Given the description of an element on the screen output the (x, y) to click on. 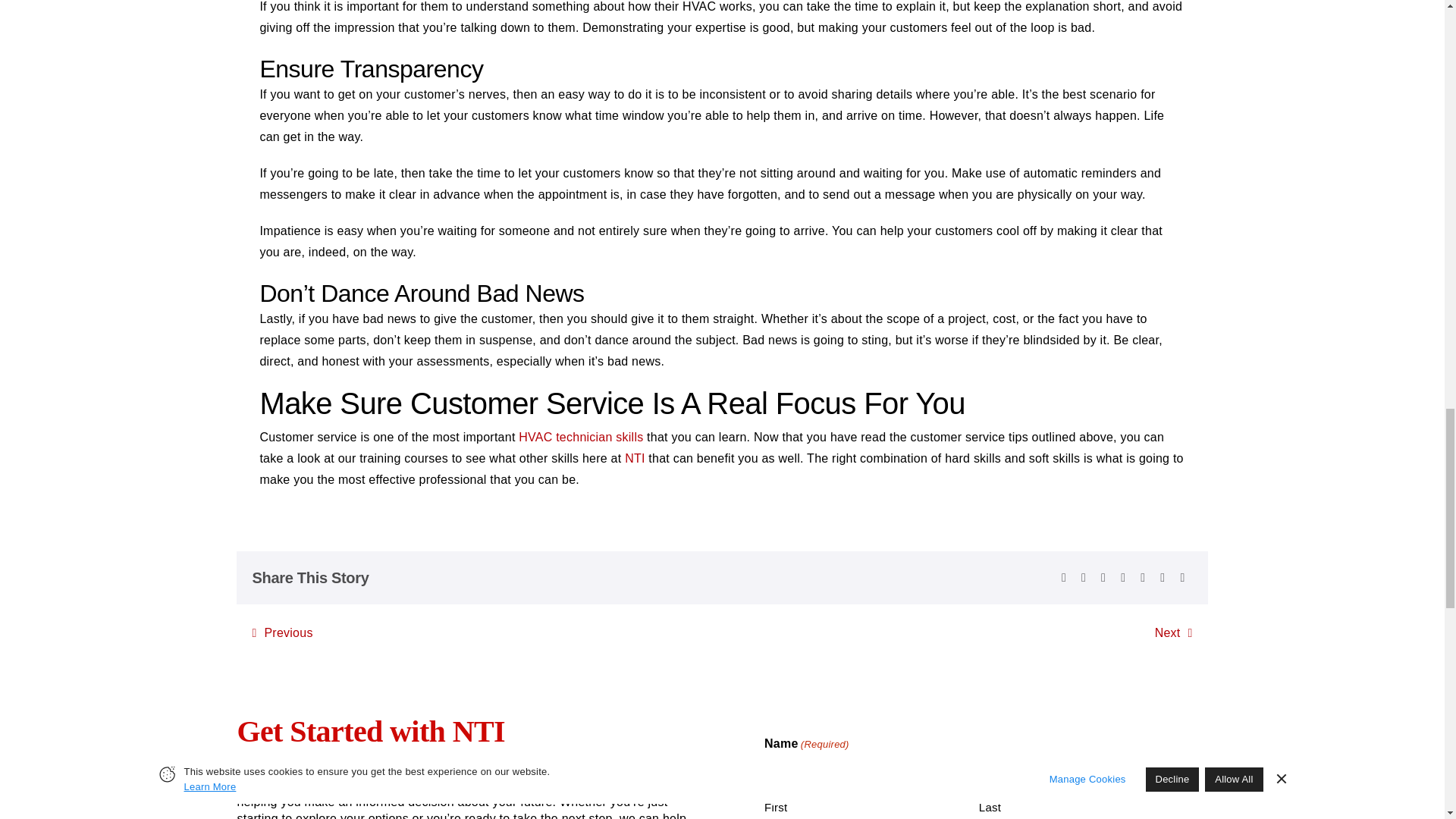
NTI (634, 458)
Next (1173, 632)
Previous (282, 632)
HVAC technician skills (580, 436)
